Given the description of an element on the screen output the (x, y) to click on. 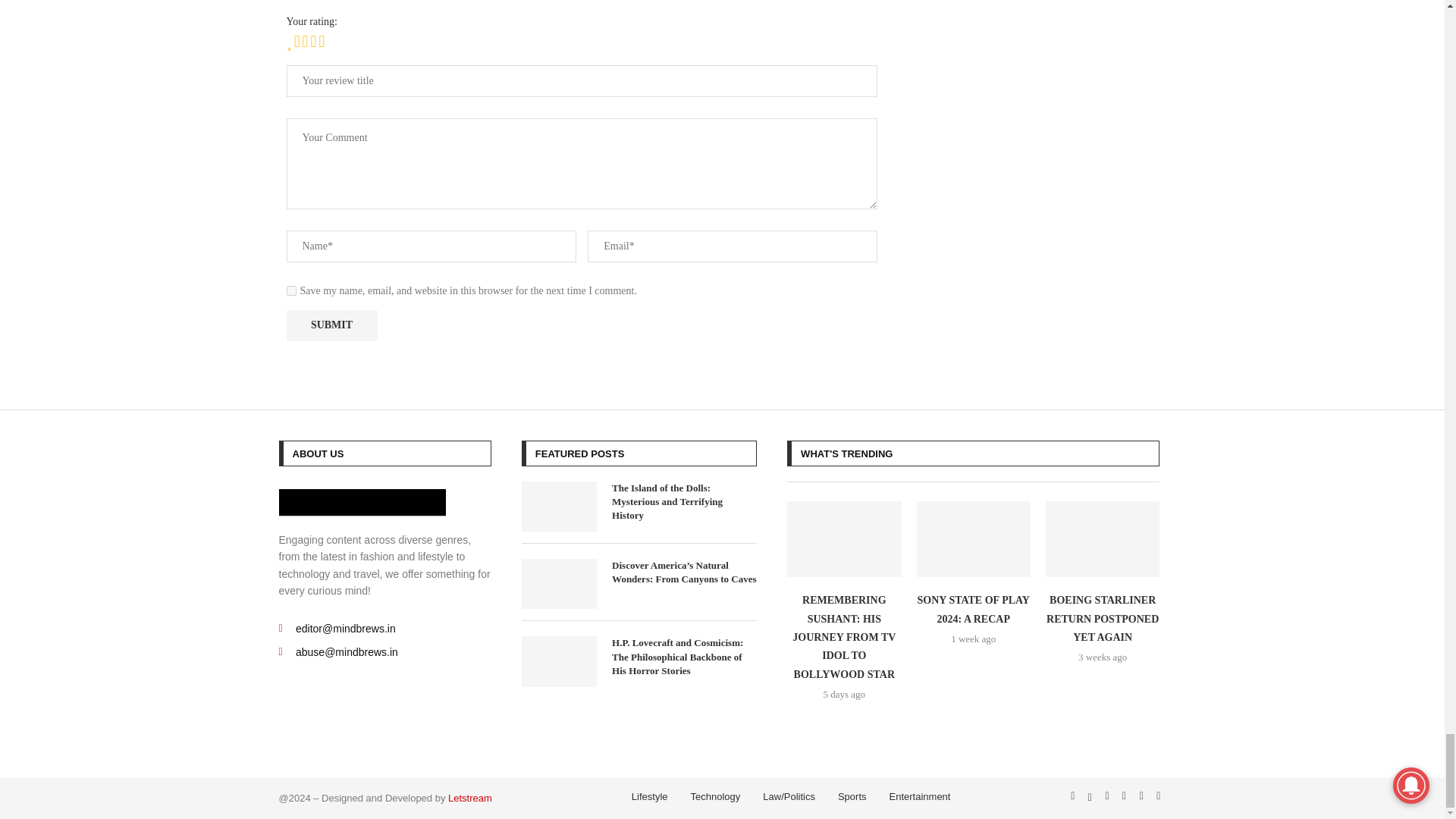
Submit (331, 325)
yes (291, 290)
